Given the description of an element on the screen output the (x, y) to click on. 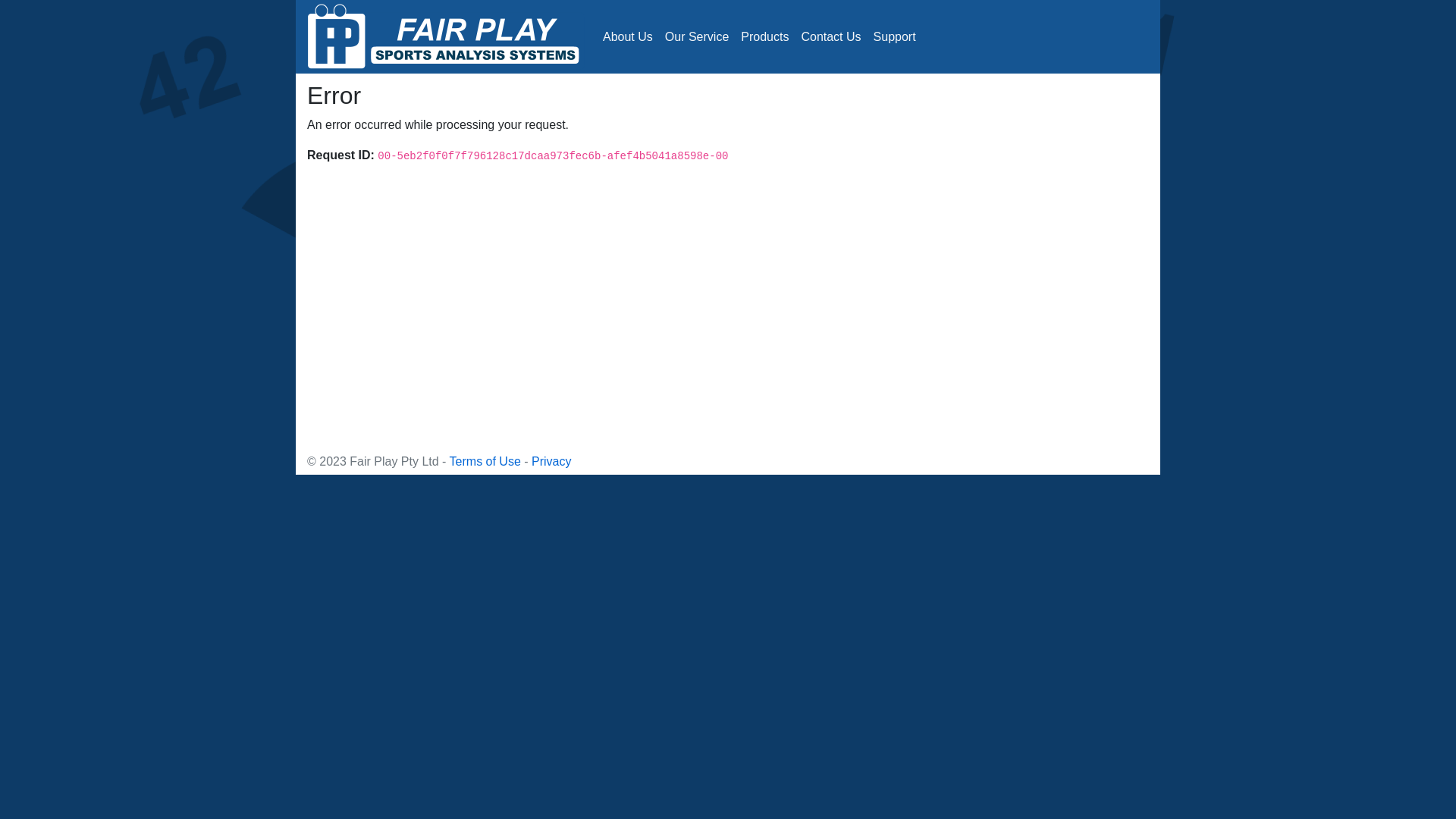
Privacy Element type: text (551, 461)
Support Element type: text (894, 36)
Products Element type: text (764, 36)
About Us Element type: text (627, 36)
Contact Us Element type: text (830, 36)
Our Service Element type: text (696, 36)
Terms of Use Element type: text (484, 461)
